Given the description of an element on the screen output the (x, y) to click on. 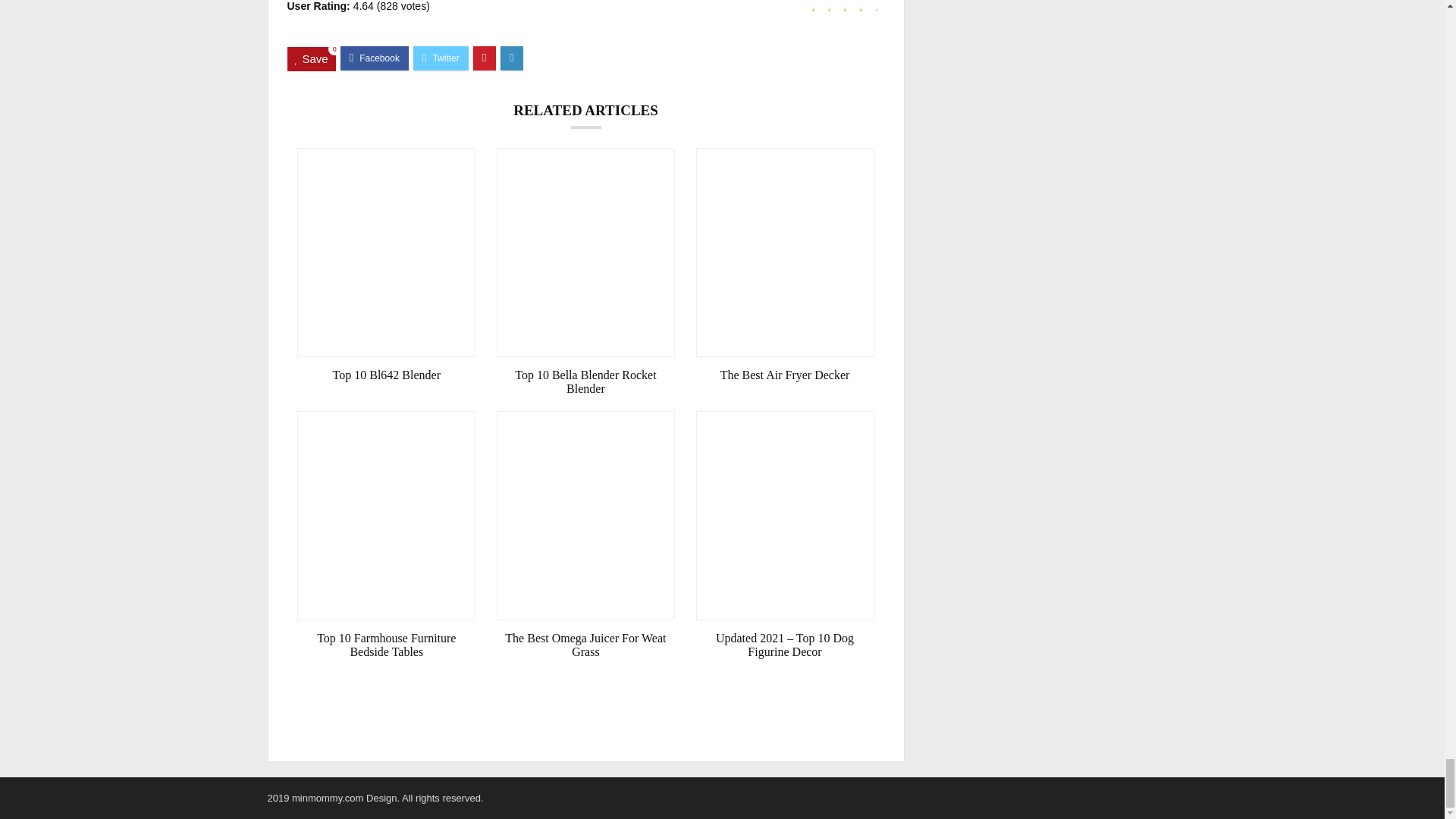
Top 10 Bella Blender Rocket Blender (585, 381)
The Best Air Fryer Decker (785, 375)
Top 10 Farmhouse Furniture Bedside Tables (386, 645)
The Best Omega Juicer  For Weat Grass (585, 645)
Top 10 Bl642 Blender (386, 375)
